Given the description of an element on the screen output the (x, y) to click on. 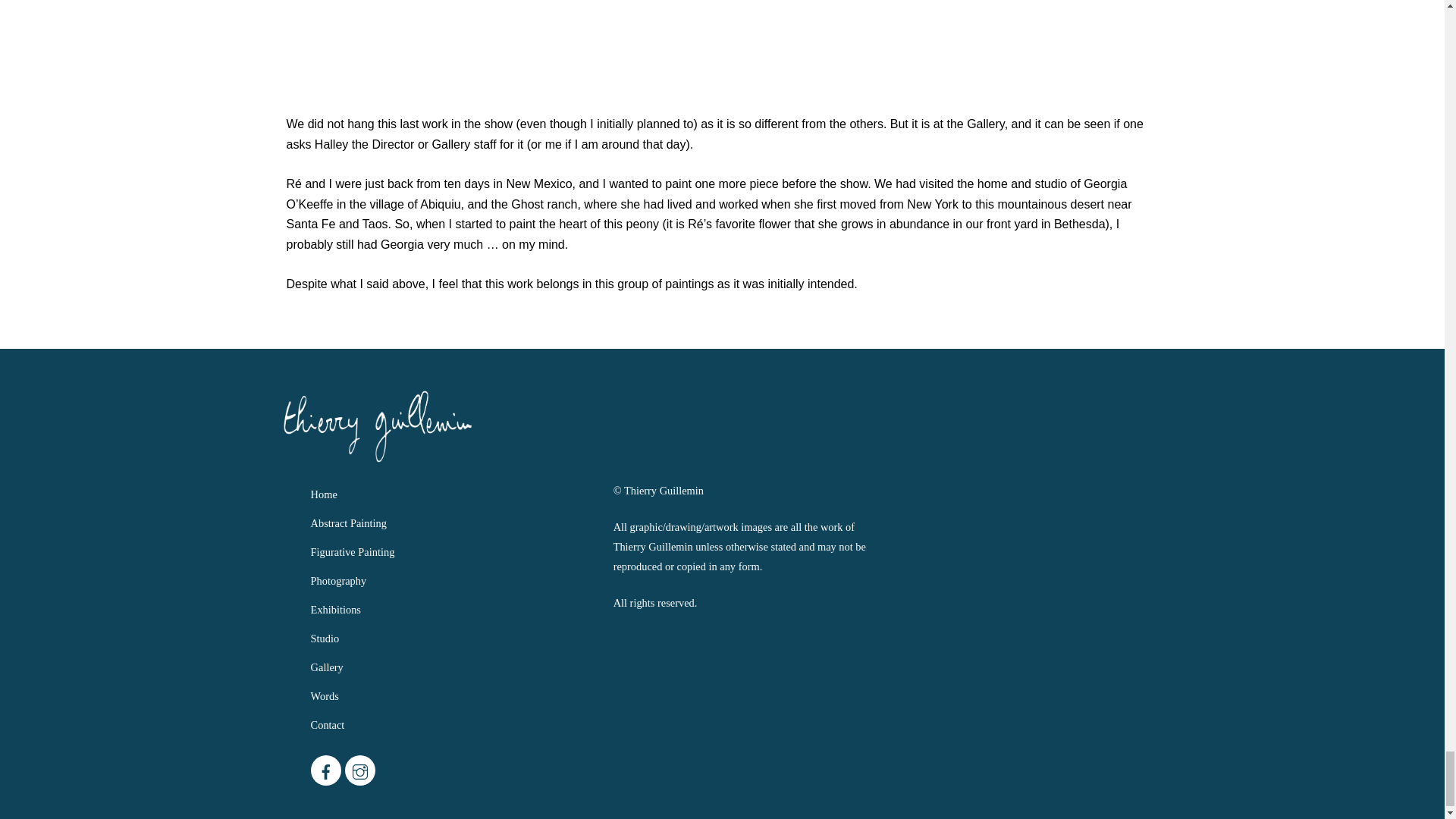
Figurative Painting (352, 551)
Home (324, 494)
Exhibitions (336, 609)
Thierry Guillemin (376, 456)
Photography (338, 580)
Contact (328, 725)
Studio (325, 638)
Words (325, 695)
Gallery (327, 666)
Abstract Painting (349, 522)
